Given the description of an element on the screen output the (x, y) to click on. 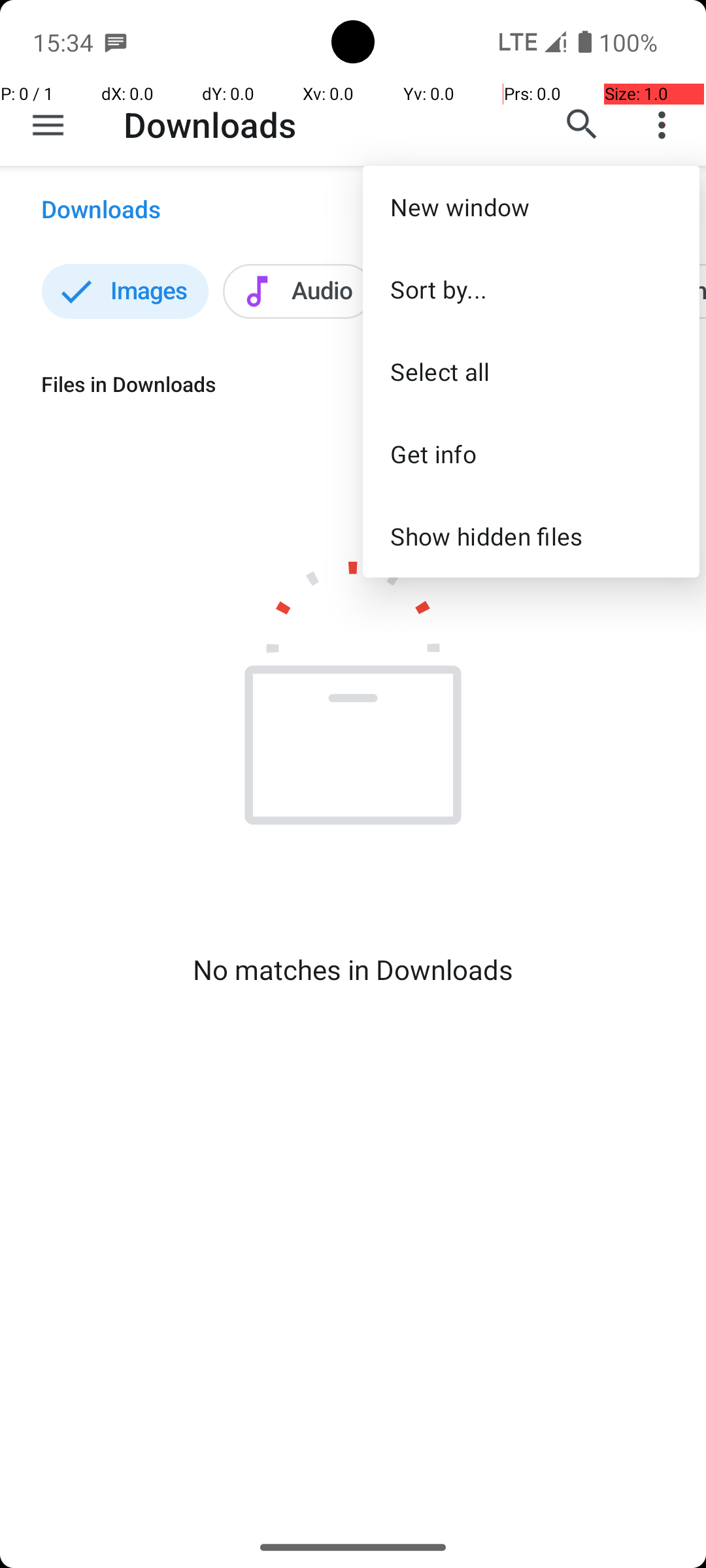
New window Element type: android.widget.TextView (531, 206)
Sort by... Element type: android.widget.TextView (531, 288)
Select all Element type: android.widget.TextView (531, 371)
Get info Element type: android.widget.TextView (531, 453)
Show hidden files Element type: android.widget.TextView (531, 535)
SMS Messenger notification: +15505050843 Element type: android.widget.ImageView (115, 41)
